Given the description of an element on the screen output the (x, y) to click on. 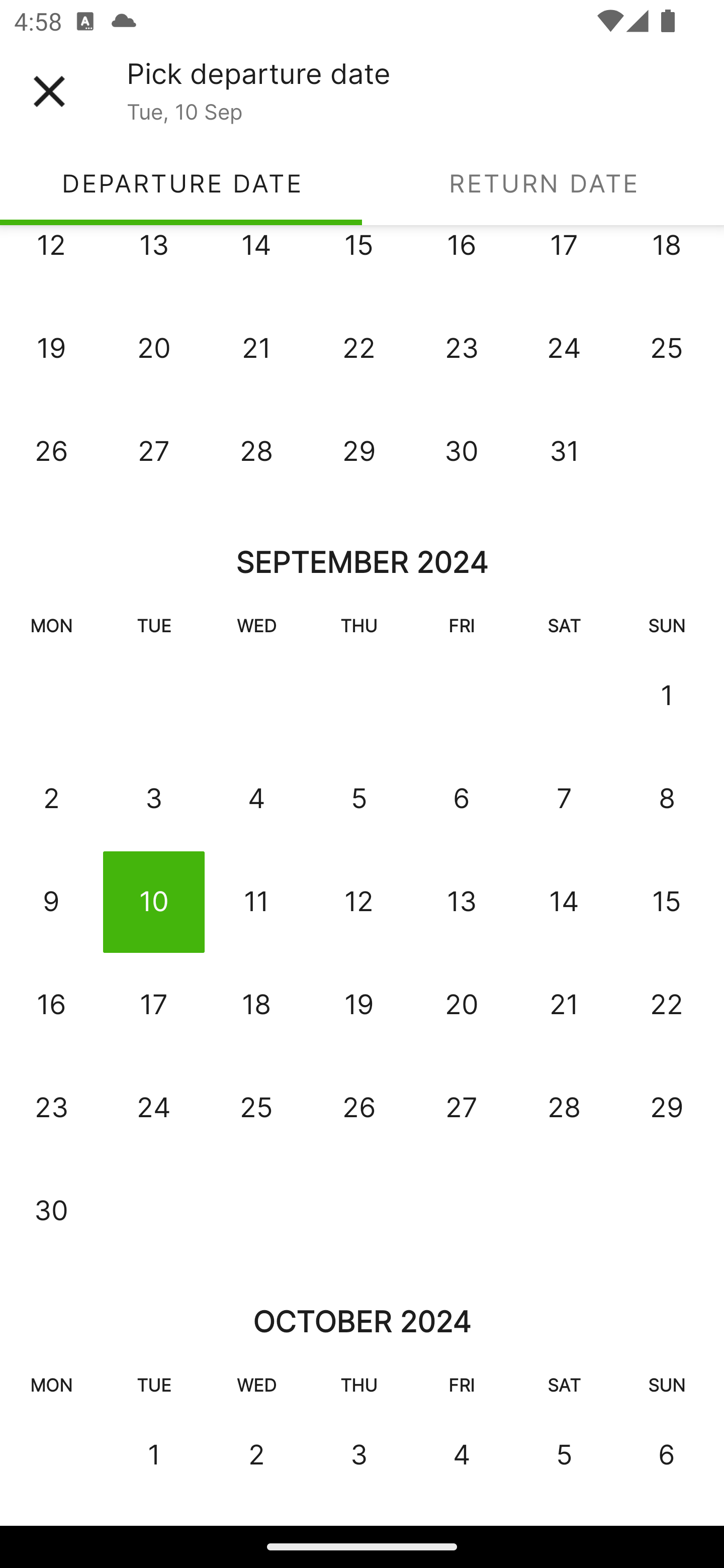
Return Date RETURN DATE (543, 183)
